Given the description of an element on the screen output the (x, y) to click on. 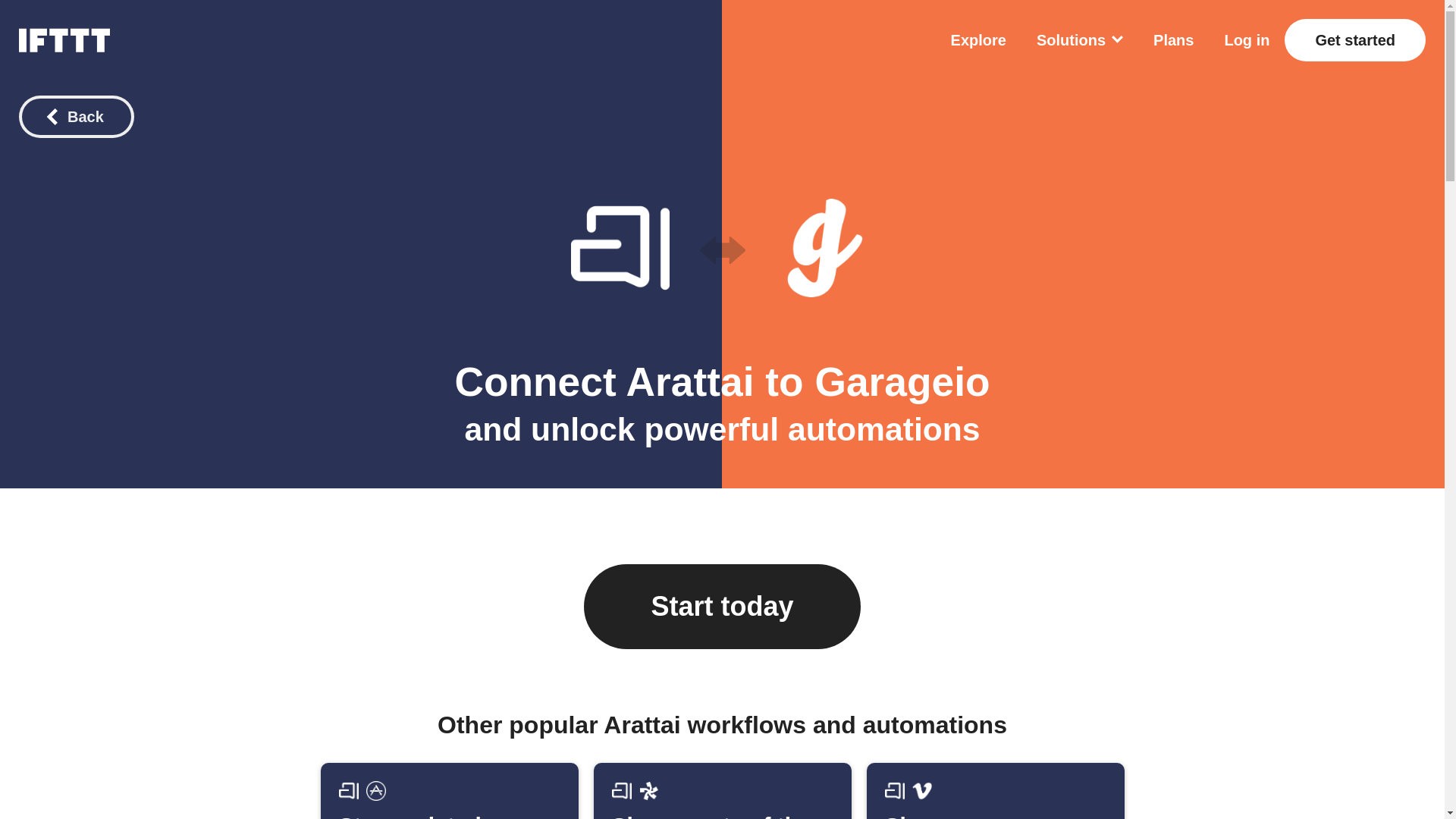
Explore (721, 790)
Garageio (978, 39)
Apple App Store (823, 248)
Garageio (375, 790)
Plans (901, 381)
Garageio (1173, 39)
Get started (995, 790)
Arattai (901, 381)
